Given the description of an element on the screen output the (x, y) to click on. 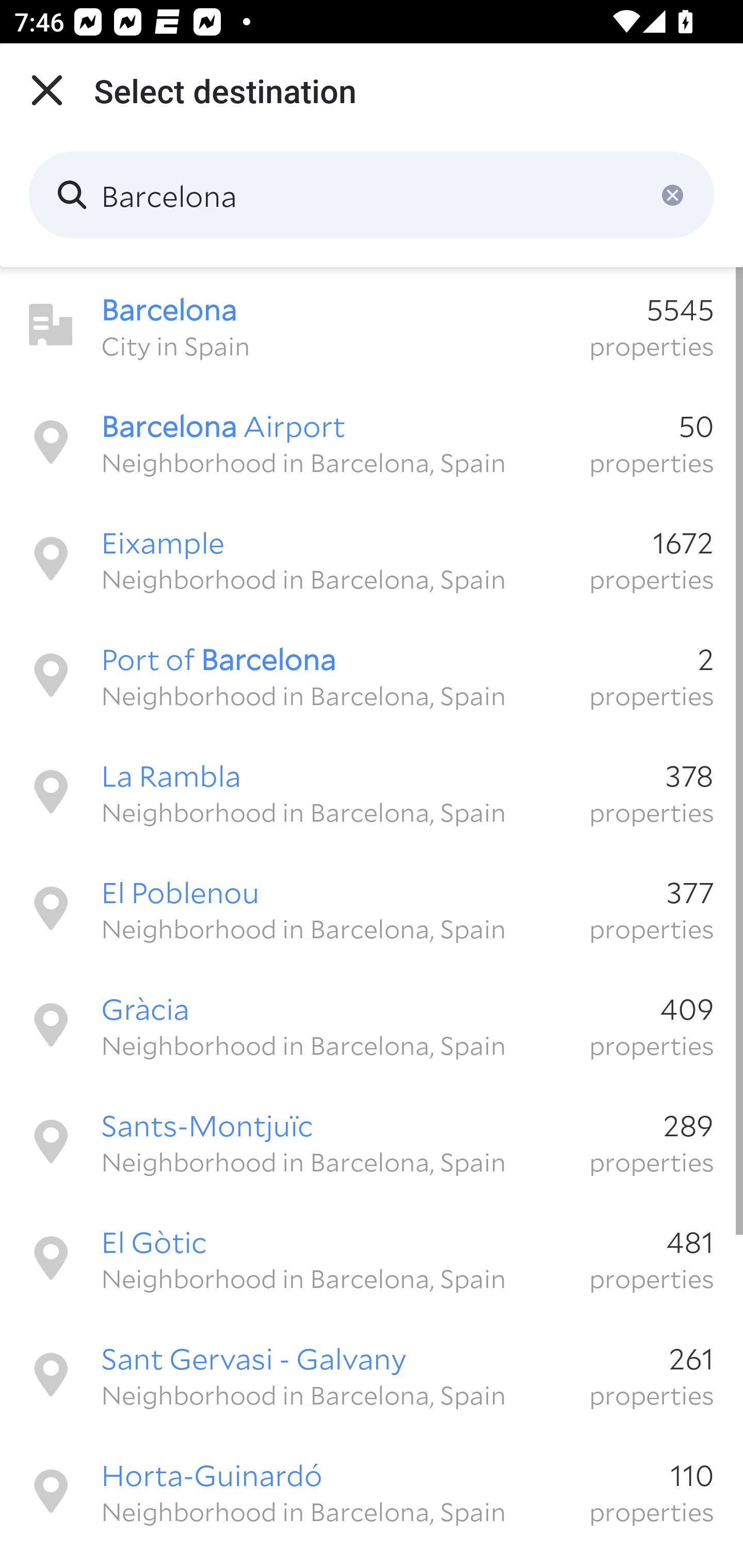
Barcelona (371, 195)
Barcelona 5545 City in Spain properties (371, 325)
